Given the description of an element on the screen output the (x, y) to click on. 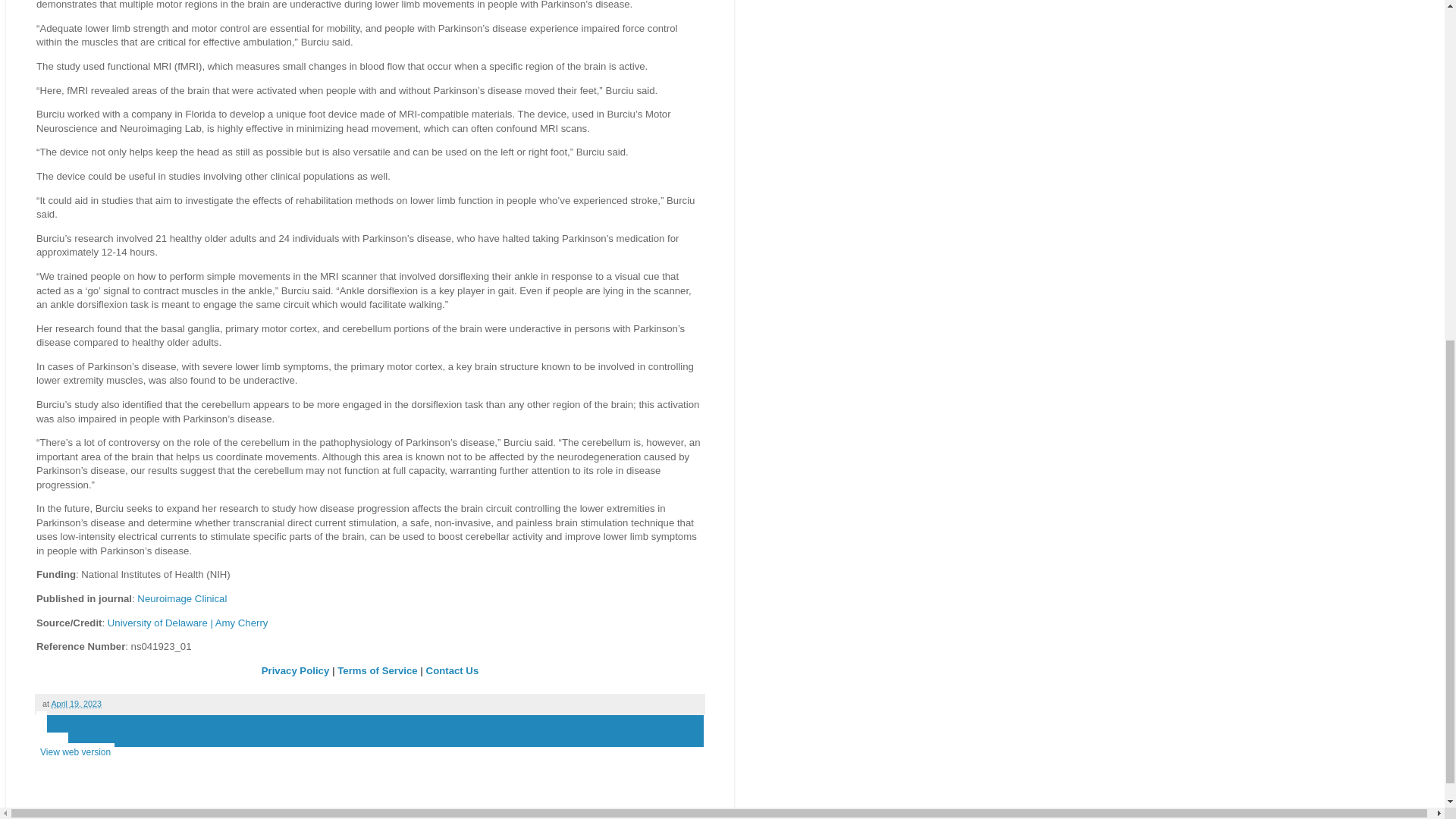
Contact Us (452, 670)
April 19, 2023 (75, 703)
Terms of Service (376, 670)
Privacy Policy (295, 670)
Blogger (393, 811)
Home (52, 741)
View web version (75, 751)
permanent link (75, 703)
Neuroimage Clinical (181, 598)
